Given the description of an element on the screen output the (x, y) to click on. 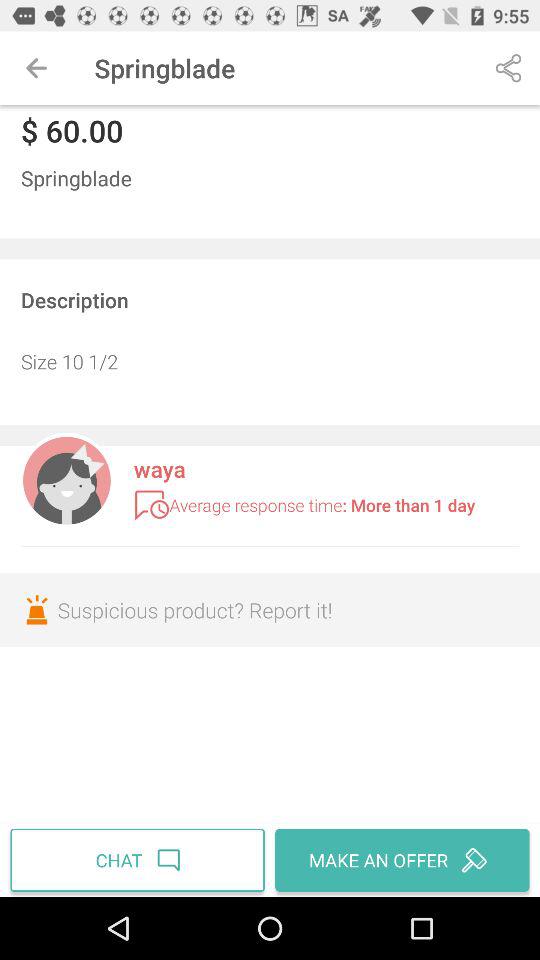
select the item below the suspicious product report item (139, 860)
